Given the description of an element on the screen output the (x, y) to click on. 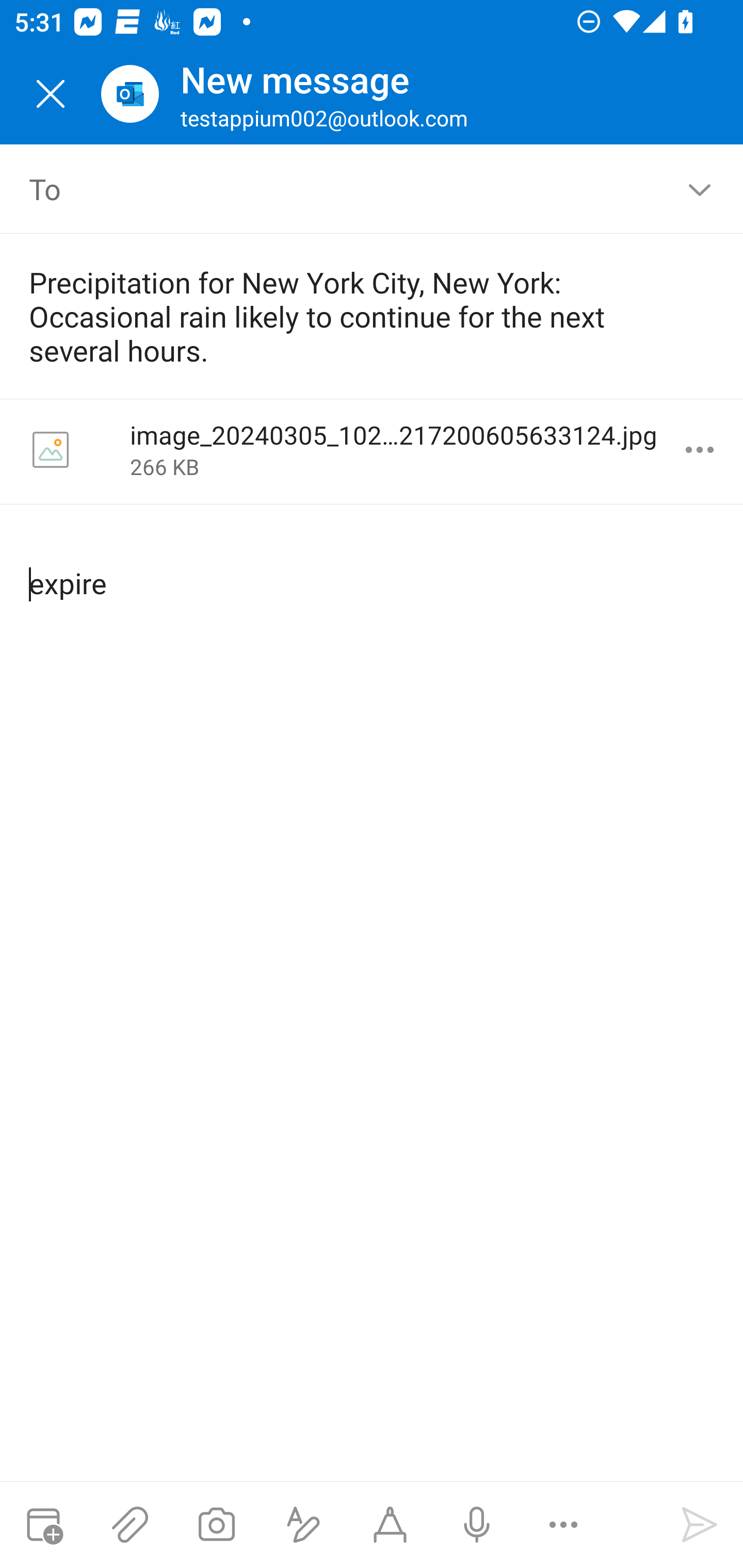
Close (50, 93)
More options (699, 449)

expire (372, 567)
Attach meeting (43, 1524)
Attach files (129, 1524)
Take a photo (216, 1524)
Show formatting options (303, 1524)
Start Ink compose (389, 1524)
Dictation (476, 1524)
More options (563, 1524)
Send (699, 1524)
